Given the description of an element on the screen output the (x, y) to click on. 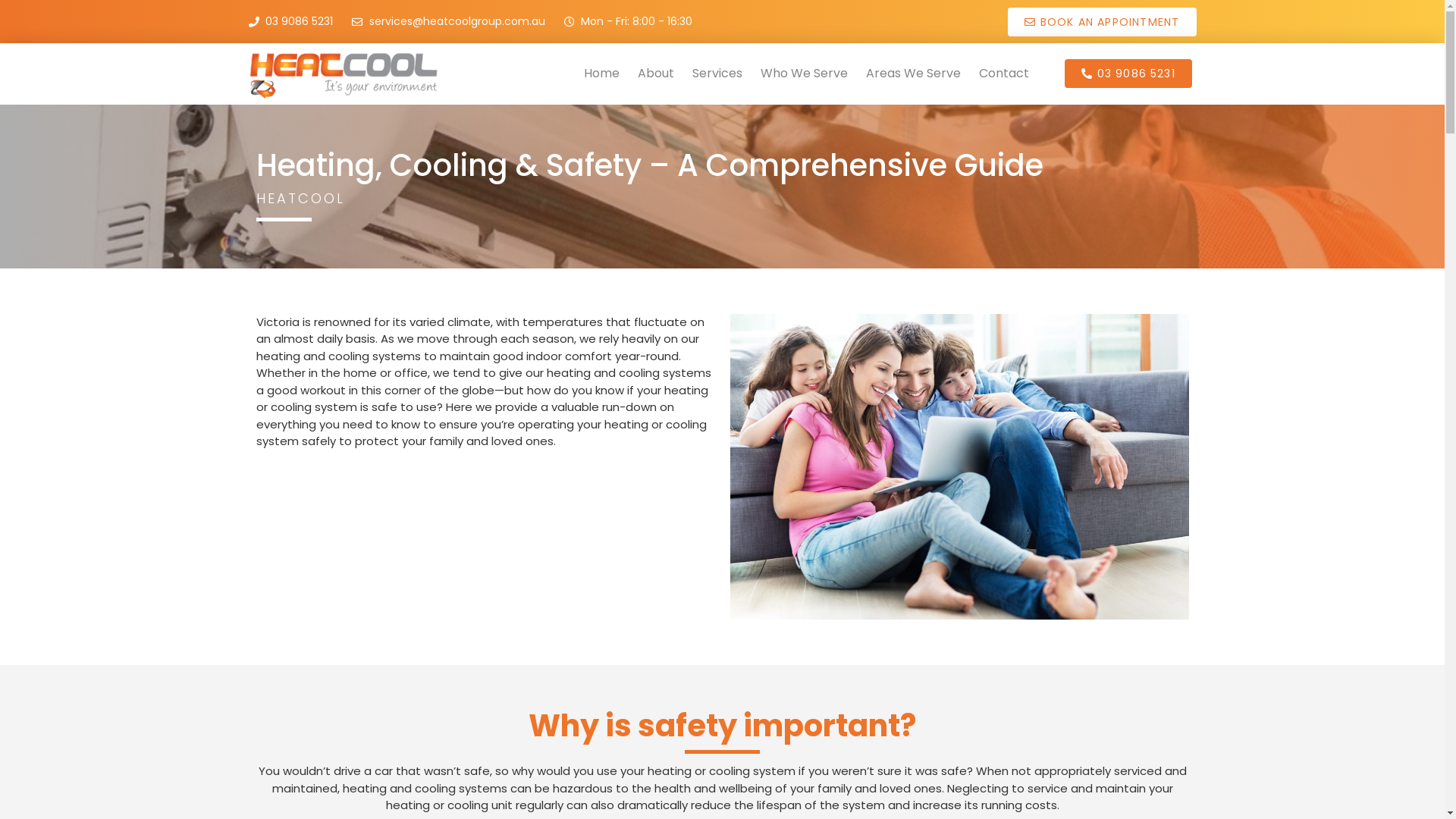
About Element type: text (655, 73)
Home Element type: text (601, 73)
Areas We Serve Element type: text (912, 73)
03 9086 5231 Element type: text (1128, 73)
03 9086 5231 Element type: text (290, 21)
Mon - Fri: 8:00 - 16:30 Element type: text (628, 21)
Who We Serve Element type: text (803, 73)
BOOK AN APPOINTMENT Element type: text (1101, 21)
Services Element type: text (717, 73)
services@heatcoolgroup.com.au Element type: text (448, 21)
Contact Element type: text (1003, 73)
